Given the description of an element on the screen output the (x, y) to click on. 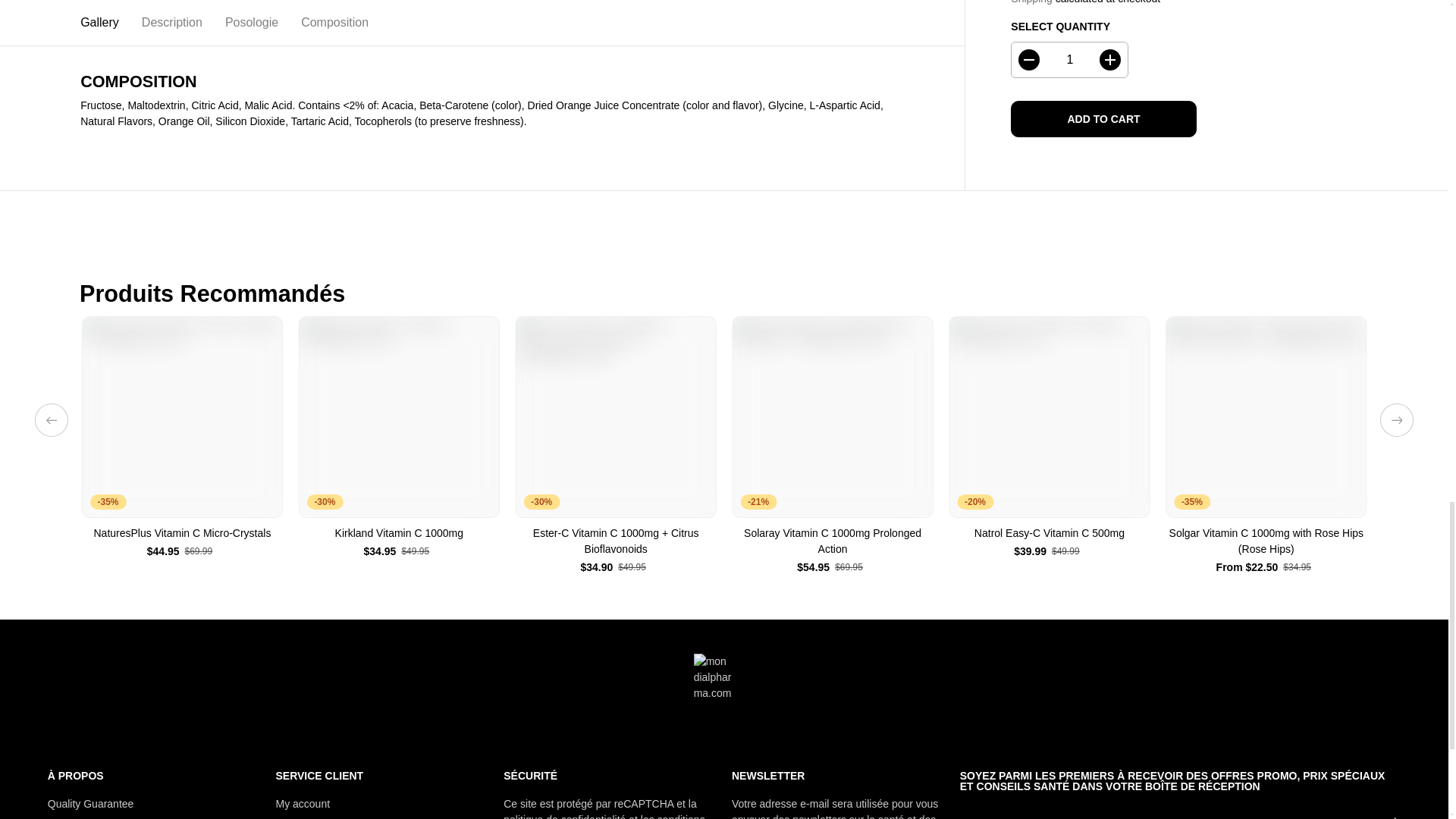
Natrol Easy-C Vitamin C 500mg (1049, 533)
Natrol Easy-C Vitamin C 500mg (1049, 416)
NaturesPlus Vitamin C Micro-Crystals (181, 416)
Solaray Vitamin C 1000mg Prolonged Action (832, 541)
Kirkland Vitamin C 1000mg (398, 416)
Solaray Vitamin C 1000mg Prolonged Action (832, 416)
NaturesPlus Vitamin C Micro-Crystals (182, 533)
Kirkland Vitamin C 1000mg (398, 533)
